Given the description of an element on the screen output the (x, y) to click on. 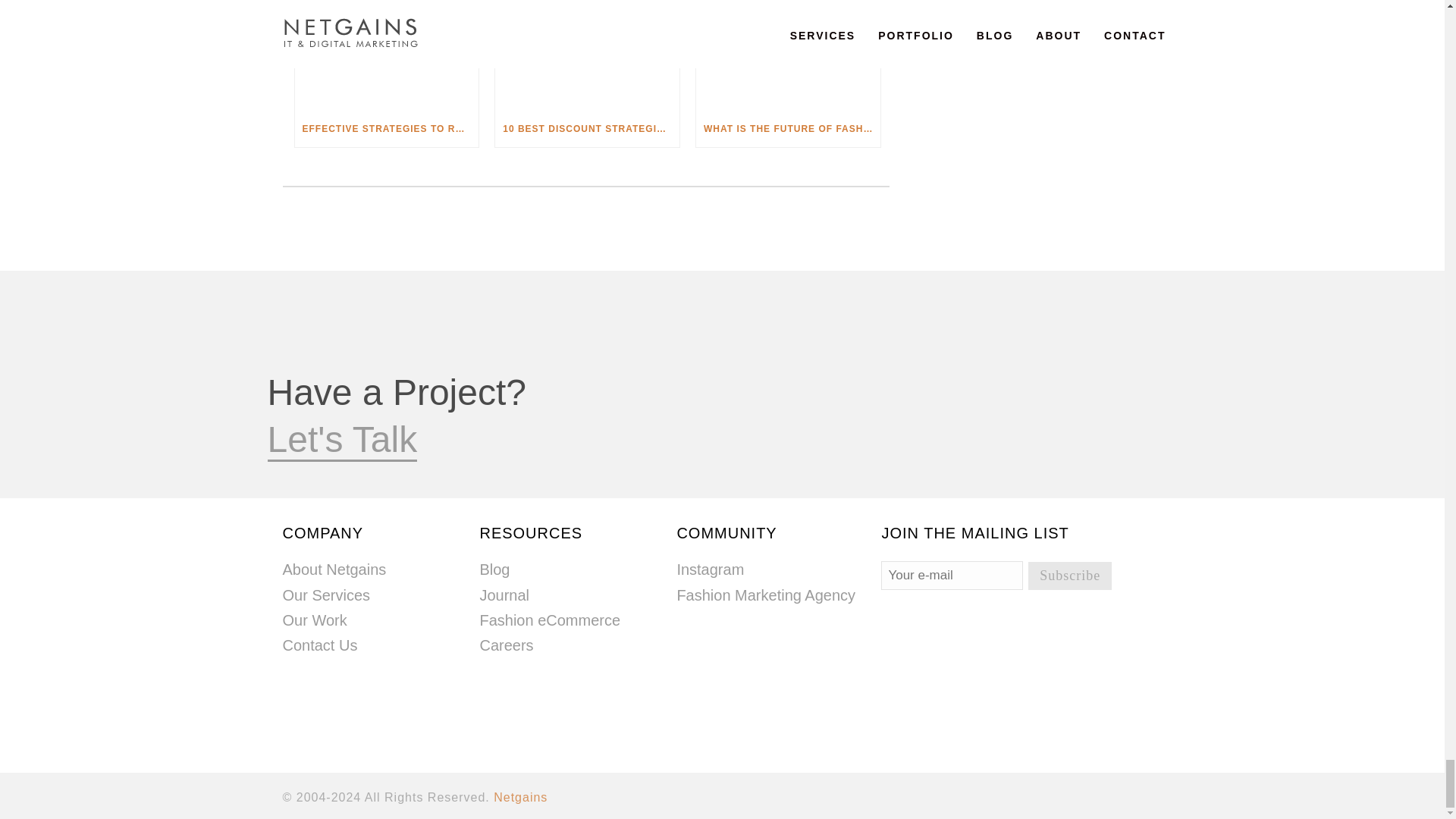
Effective Strategies to Reduce Shopping Cart Abandonment (386, 55)
What is the Future of Fashion Sourcing? (787, 55)
Subscribe (1069, 575)
10 Best Discount Strategies for Fashion E-commerce Retailers (587, 55)
